Given the description of an element on the screen output the (x, y) to click on. 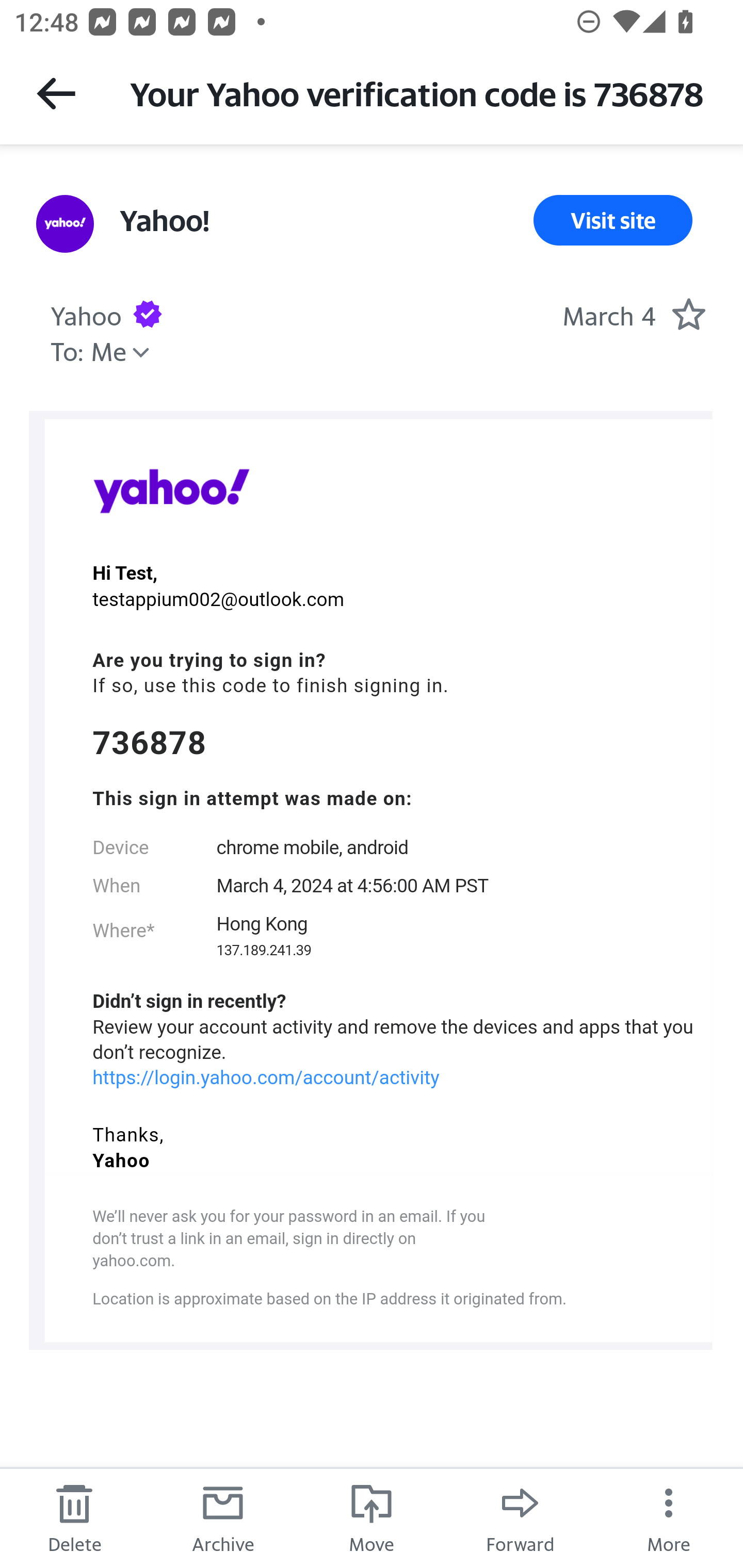
Back (55, 92)
View all messages from sender (64, 223)
Visit site Visit Site Link (612, 220)
Yahoo! Sender Yahoo! (164, 219)
Yahoo Sender Yahoo (86, 314)
Mark as starred. (688, 314)
Yahoo (171, 489)
https://login.yahoo.com/account/activity (265, 1077)
Delete (74, 1517)
Archive (222, 1517)
Move (371, 1517)
Forward (519, 1517)
More (668, 1517)
